Given the description of an element on the screen output the (x, y) to click on. 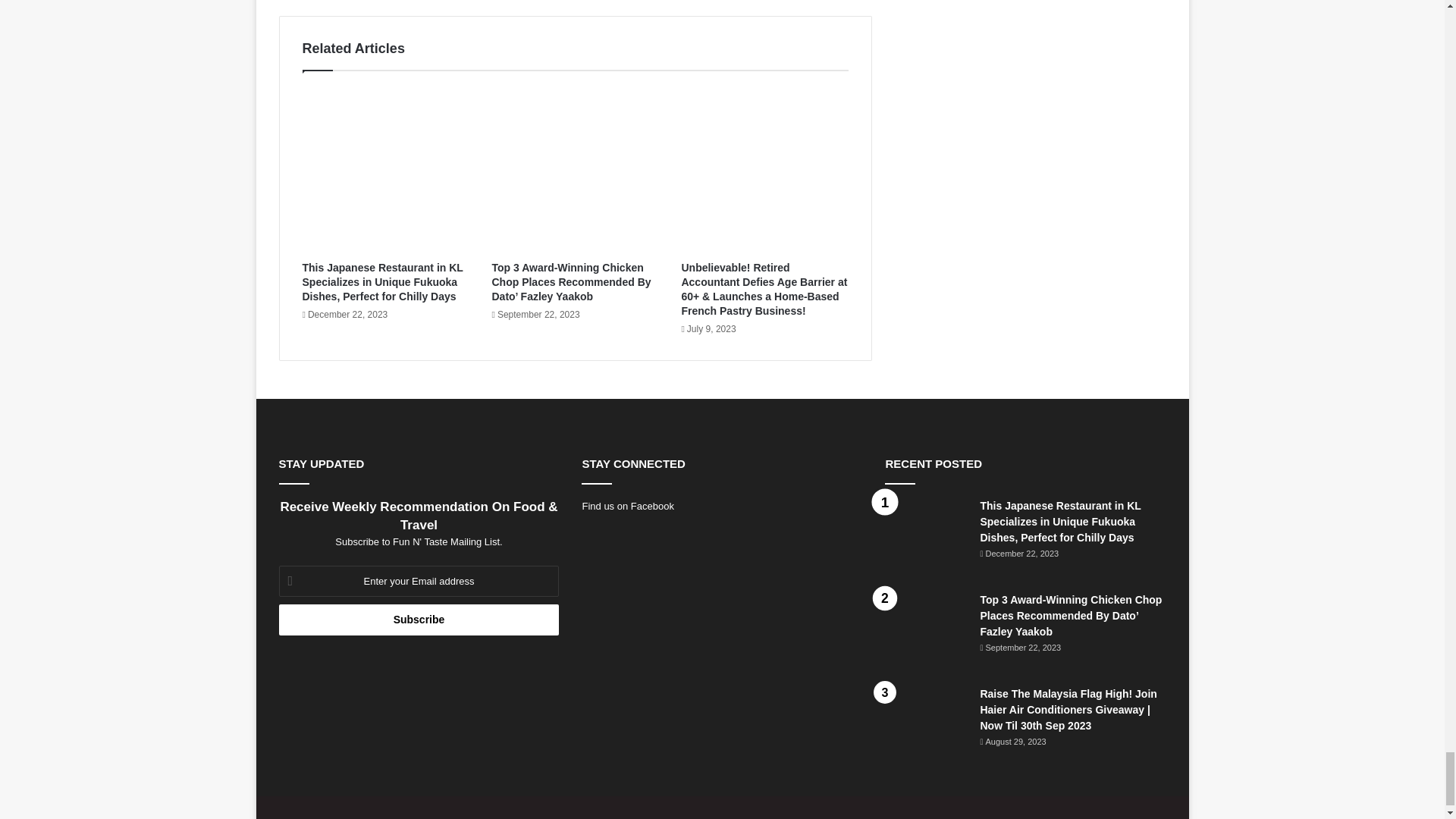
Subscribe (419, 619)
